Given the description of an element on the screen output the (x, y) to click on. 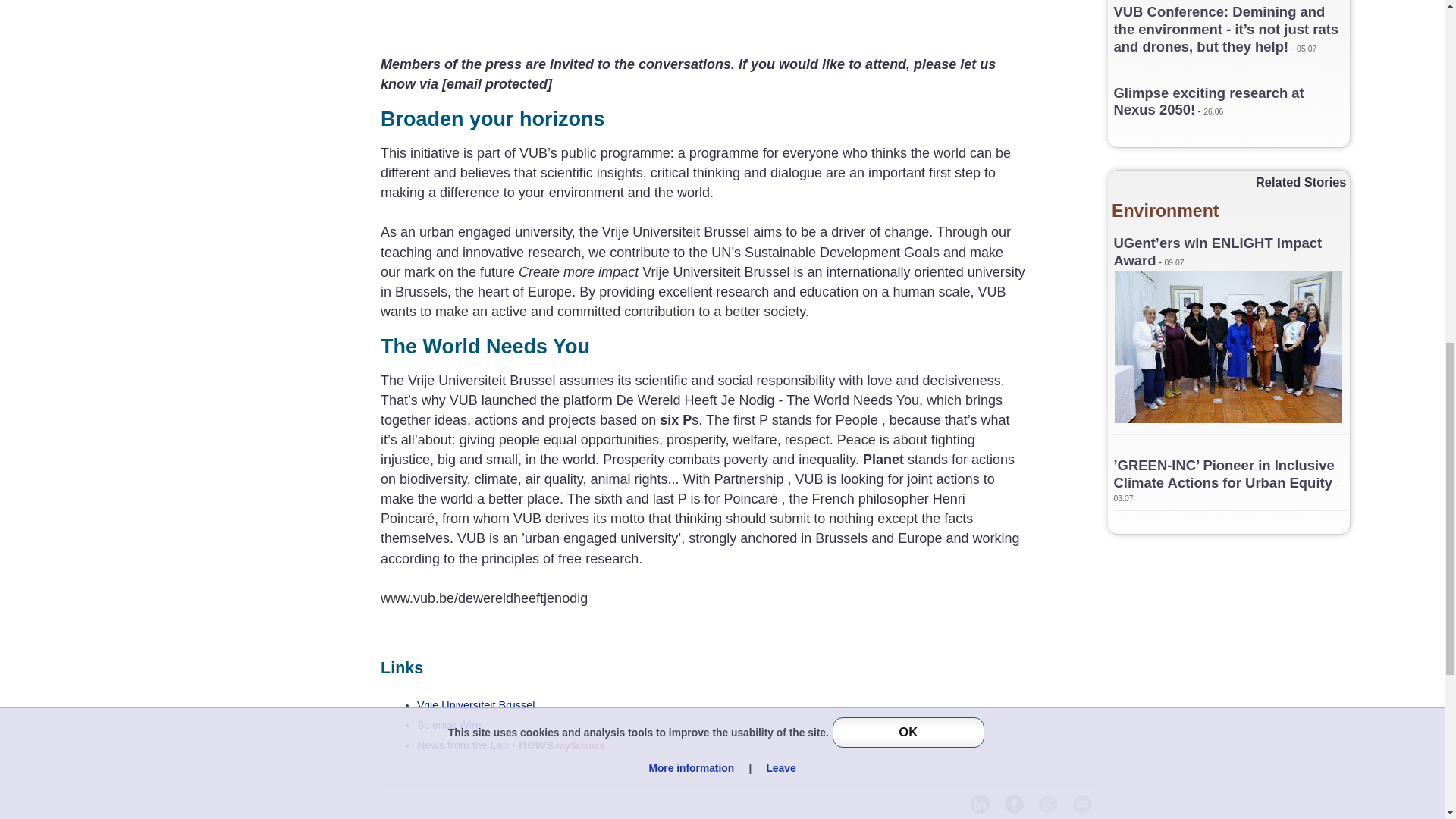
All news and press releases (448, 725)
